Given the description of an element on the screen output the (x, y) to click on. 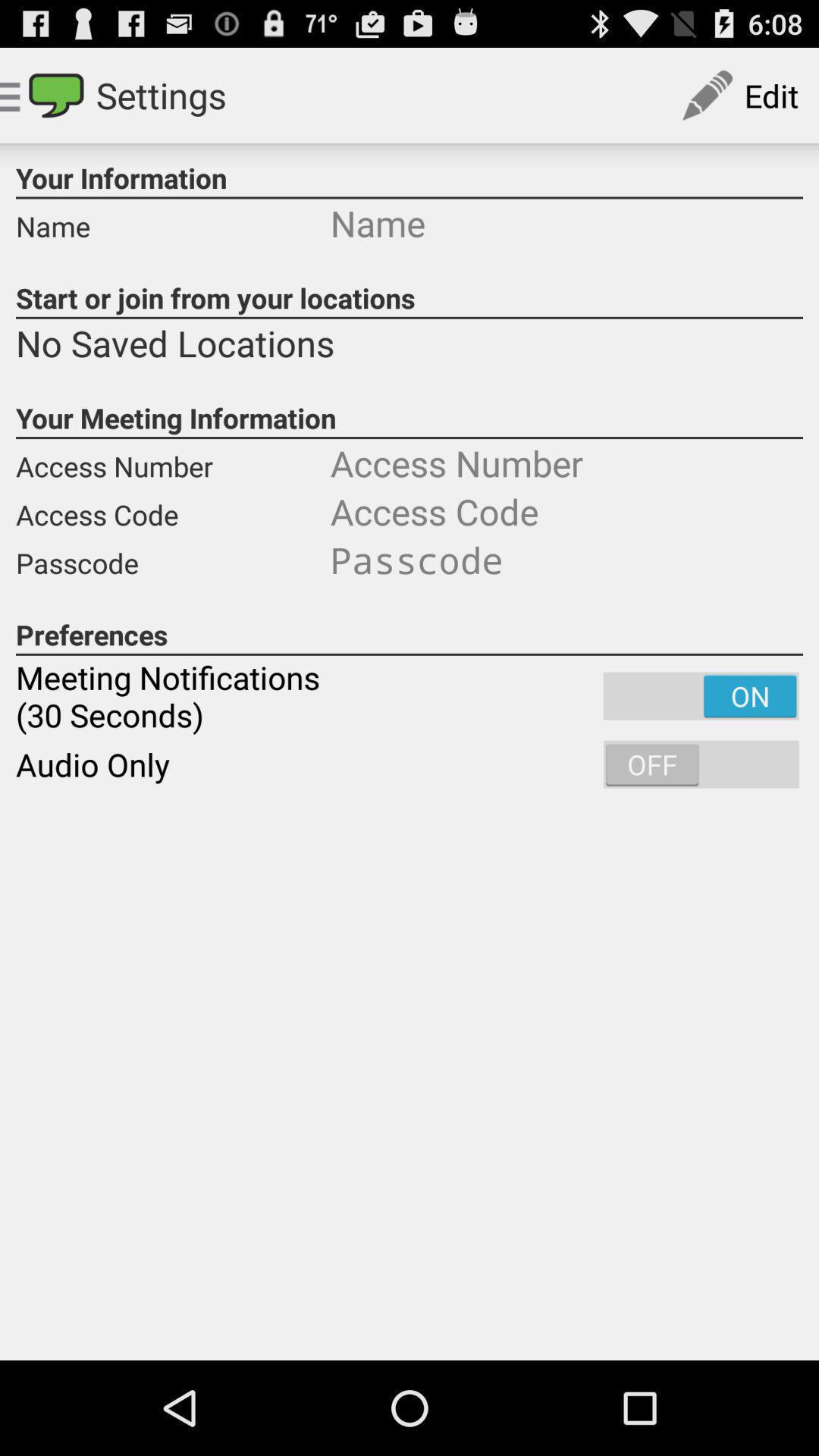
choose item below meeting notifications 30 icon (409, 764)
